Given the description of an element on the screen output the (x, y) to click on. 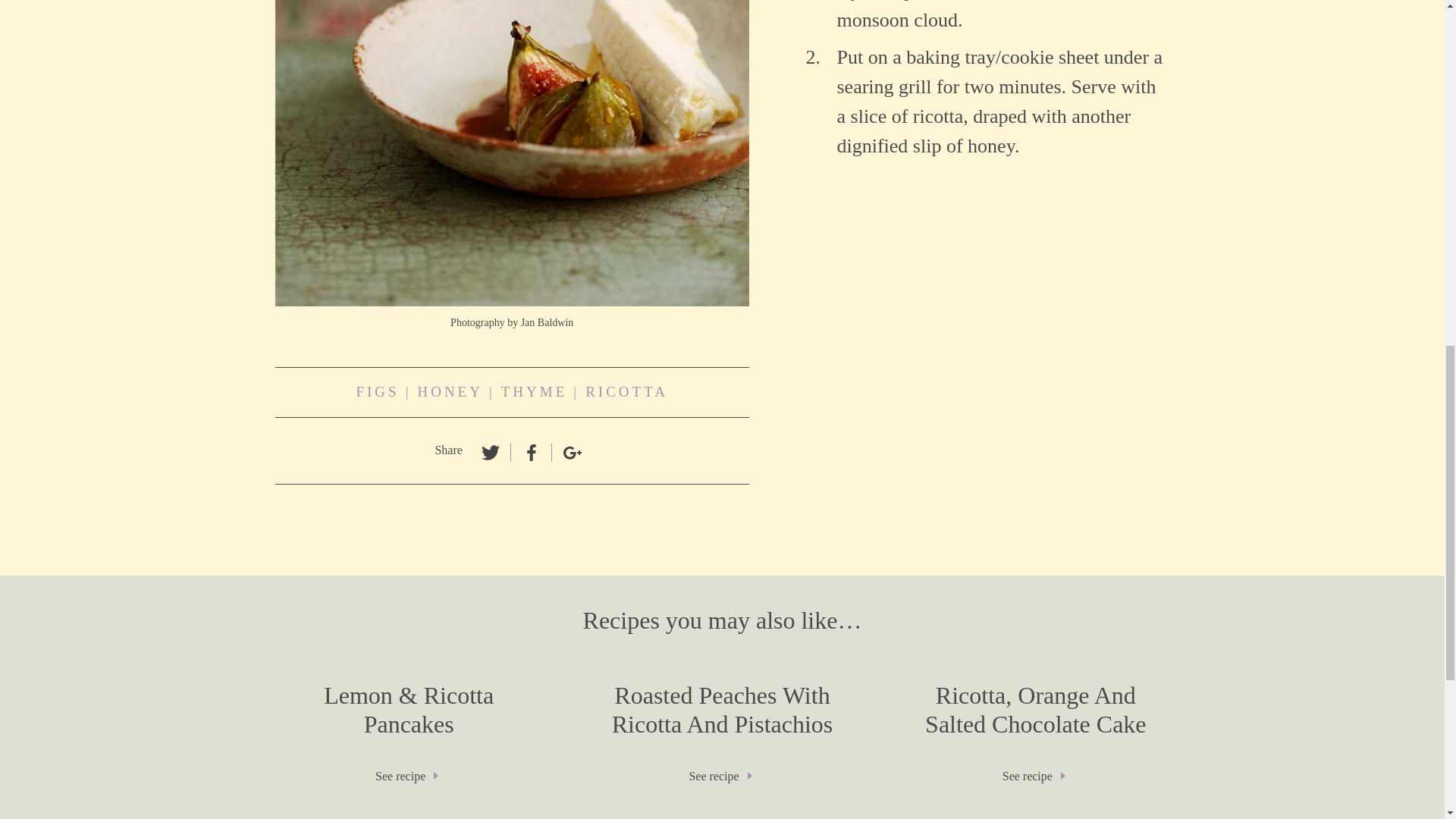
HONEY (449, 392)
THYME (1035, 739)
RICOTTA (533, 392)
FIGS (626, 392)
